Given the description of an element on the screen output the (x, y) to click on. 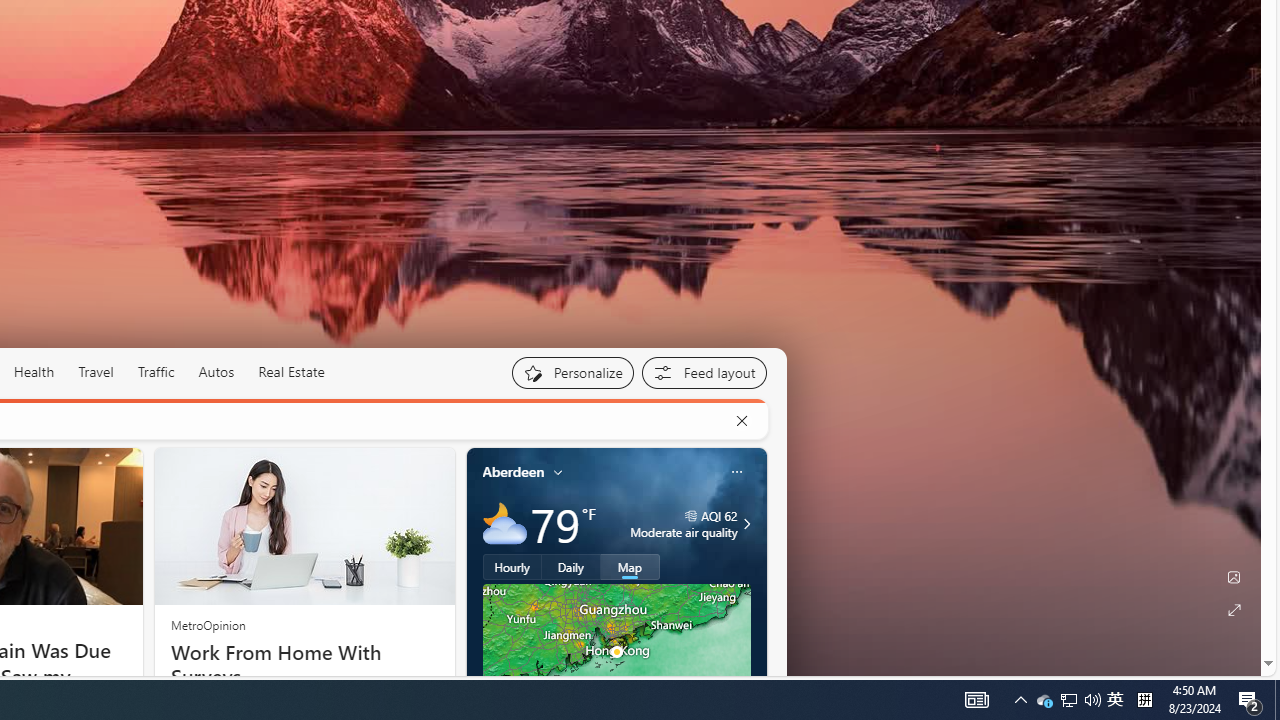
aqi-icon (690, 515)
Aberdeen (513, 471)
MetroOpinion (207, 624)
Mostly cloudy (504, 523)
Autos (216, 372)
Mostly cloudy (504, 523)
Expand background (1233, 610)
Personalize your feed" (571, 372)
My location (558, 471)
